Given the description of an element on the screen output the (x, y) to click on. 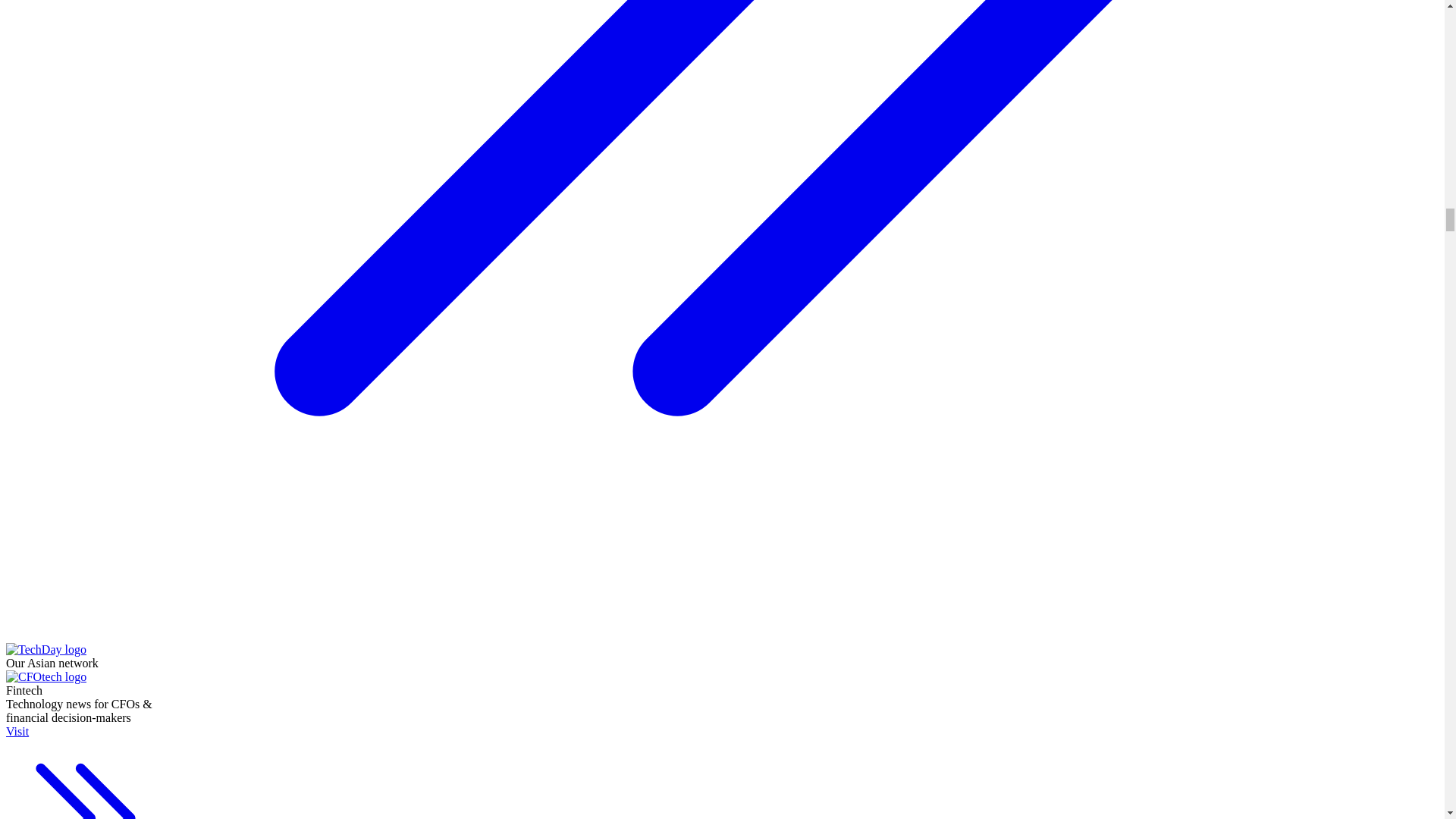
Visit (85, 771)
